Given the description of an element on the screen output the (x, y) to click on. 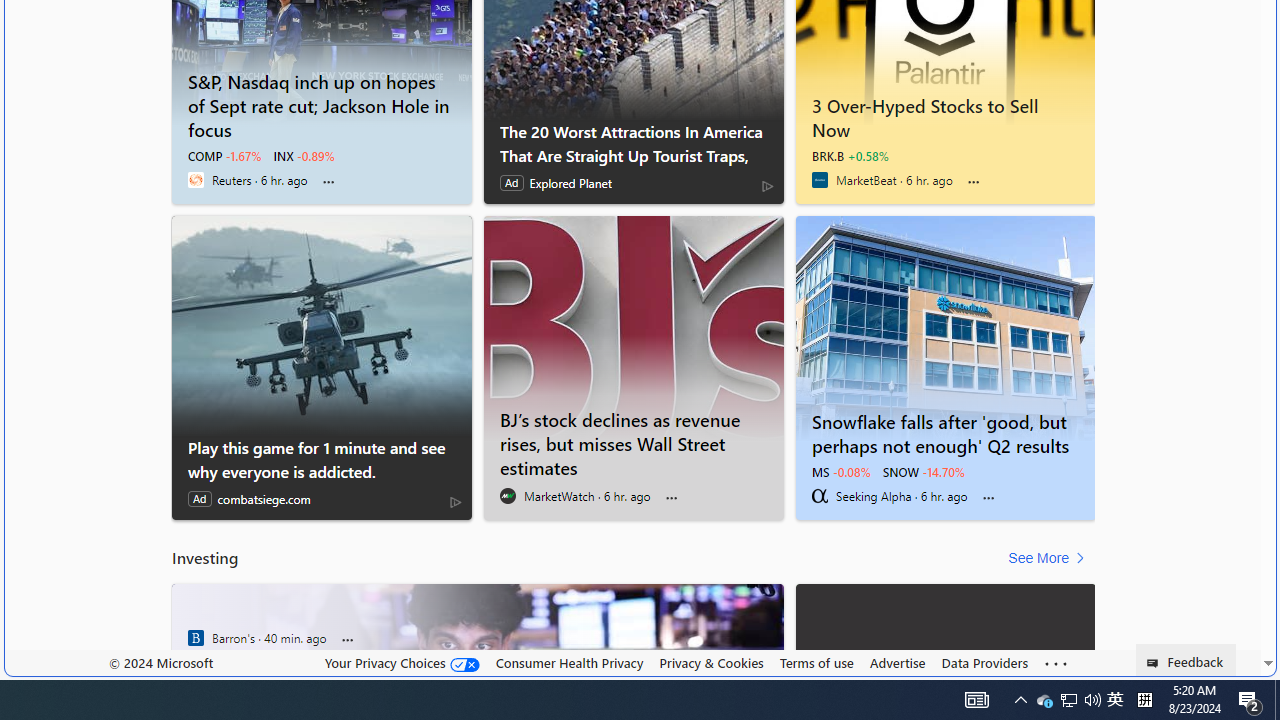
INX -0.89% (303, 156)
